Given the description of an element on the screen output the (x, y) to click on. 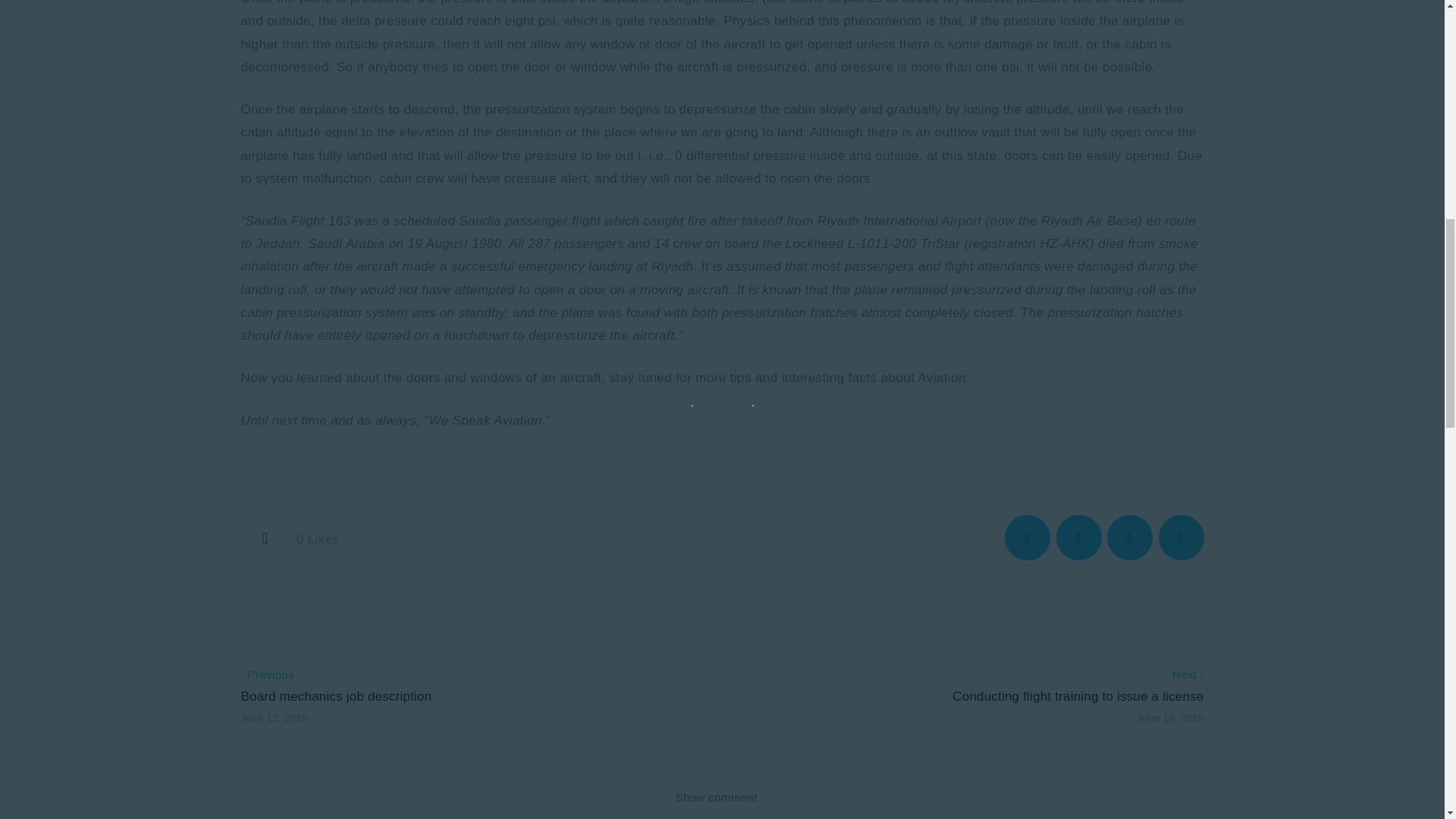
Like (290, 537)
0Likes (290, 537)
Copy URL to clipboard (1181, 537)
